Given the description of an element on the screen output the (x, y) to click on. 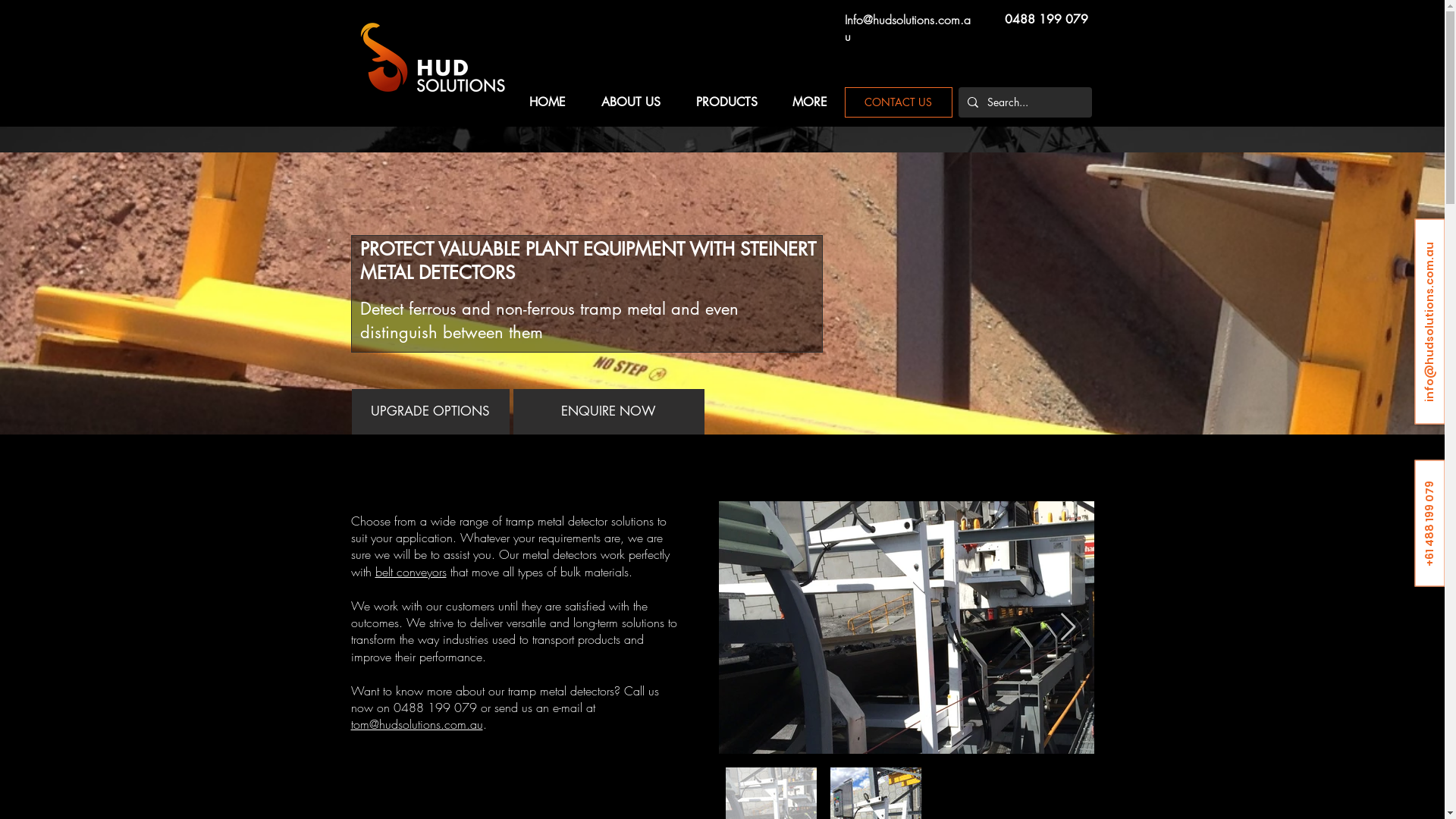
0488 199 079 Element type: text (1045, 19)
Info@hudsolutions.com.au Element type: text (907, 27)
ENQUIRE NOW Element type: text (607, 412)
belt conveyors Element type: text (409, 571)
CONTACT US Element type: text (898, 102)
HOME Element type: text (547, 102)
UPGRADE OPTIONS Element type: text (430, 412)
ABOUT US Element type: text (630, 102)
tom@hudsolutions.com.au Element type: text (416, 723)
